Given the description of an element on the screen output the (x, y) to click on. 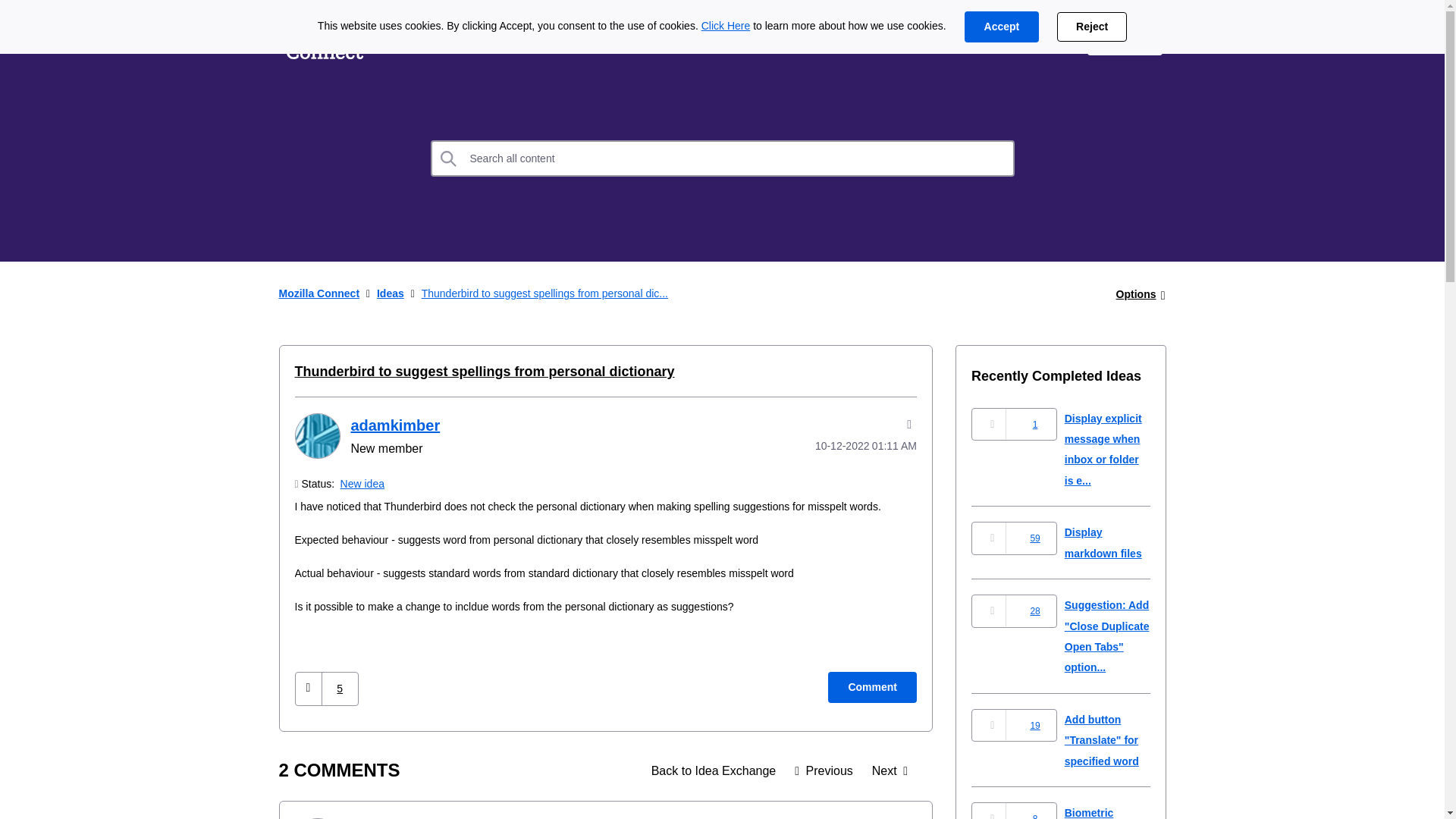
adamkimber (316, 435)
Back to Idea Exchange (714, 770)
Click here to see who gave kudos to this post. (339, 689)
Support (1040, 39)
Search (722, 158)
Search (448, 158)
Show option menu (1136, 294)
Community (607, 39)
Options (1136, 294)
Discussions (500, 39)
